Given the description of an element on the screen output the (x, y) to click on. 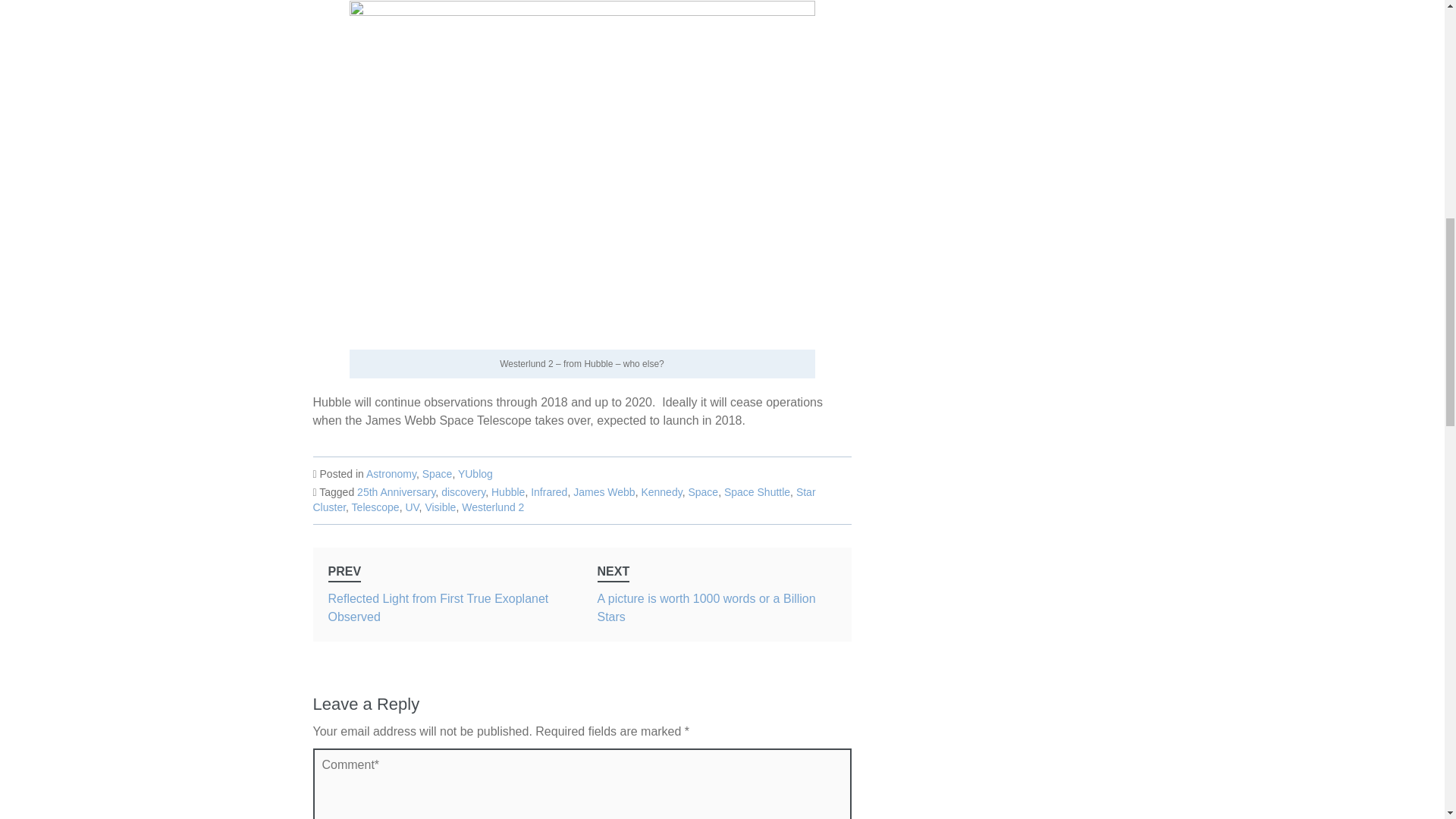
UV (446, 594)
Westerlund 2 (411, 507)
Visible (492, 507)
Kennedy (440, 507)
Space (716, 594)
Infrared (660, 491)
Astronomy (702, 491)
Space (549, 491)
